Given the description of an element on the screen output the (x, y) to click on. 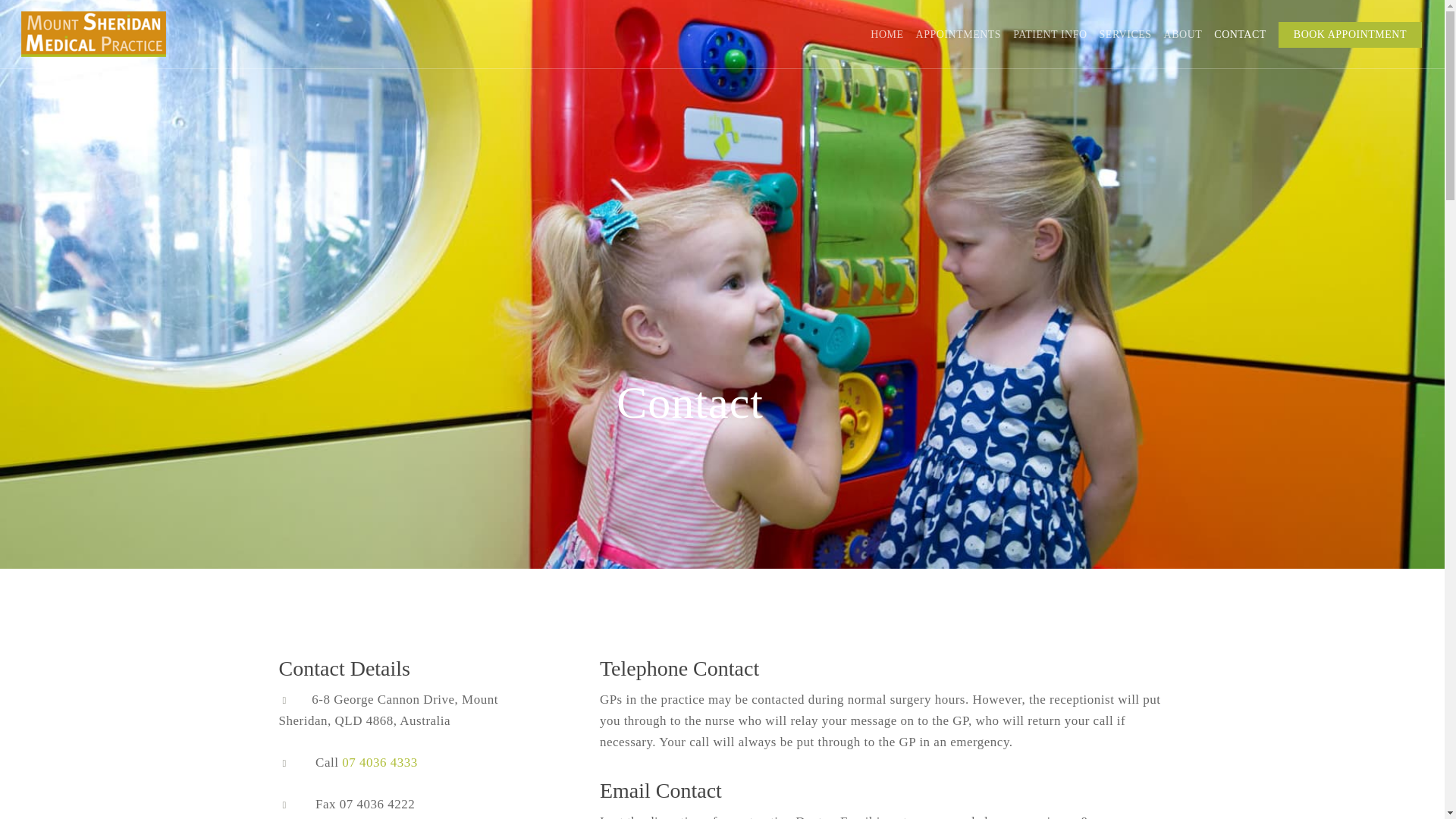
PATIENT INFO (1050, 34)
07 4036 4333 (379, 762)
APPOINTMENTS (958, 34)
ABOUT (1182, 34)
BOOK APPOINTMENT (1350, 34)
SERVICES (1125, 34)
HOME (886, 34)
CONTACT (1240, 34)
